Given the description of an element on the screen output the (x, y) to click on. 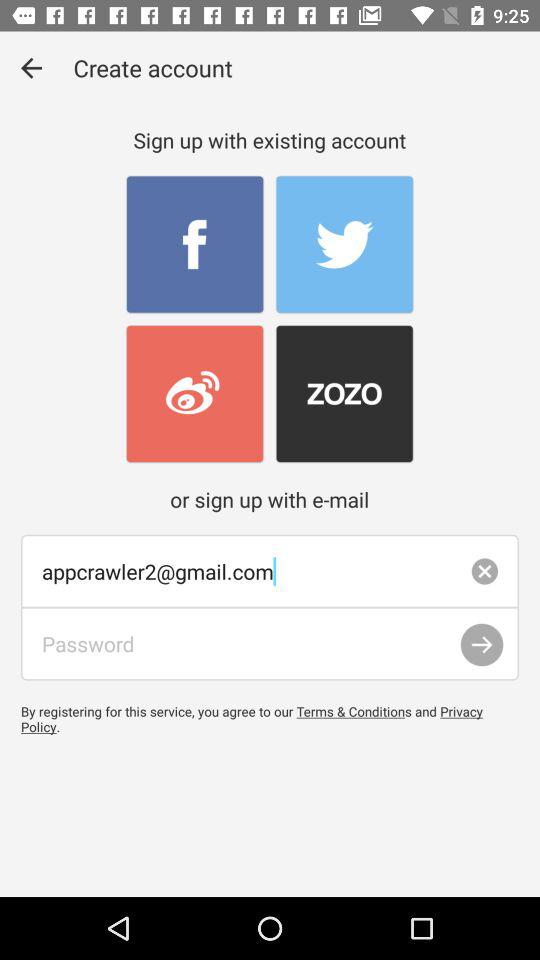
turn on the item above by registering for item (482, 644)
